Given the description of an element on the screen output the (x, y) to click on. 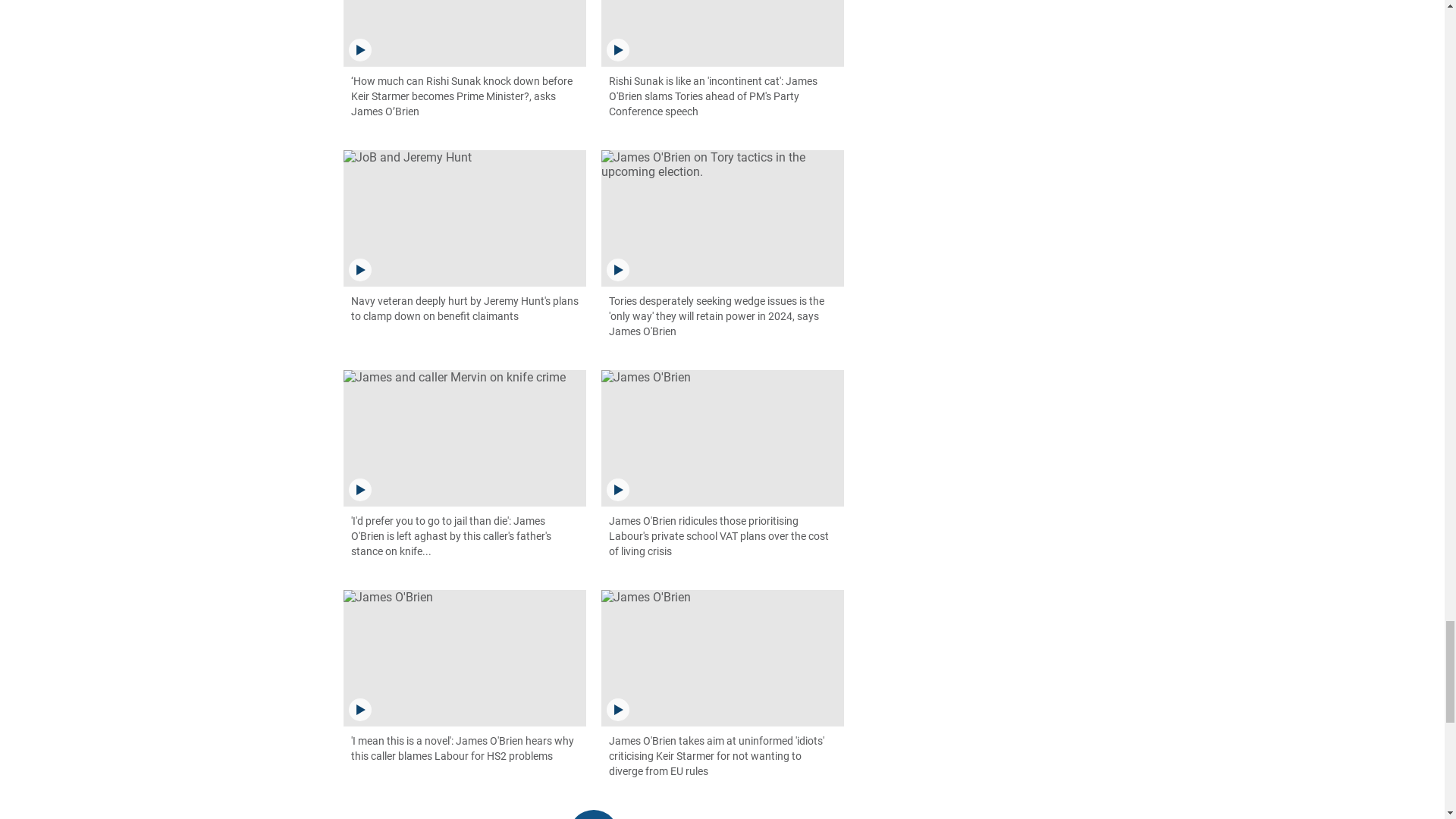
View More (593, 814)
